Given the description of an element on the screen output the (x, y) to click on. 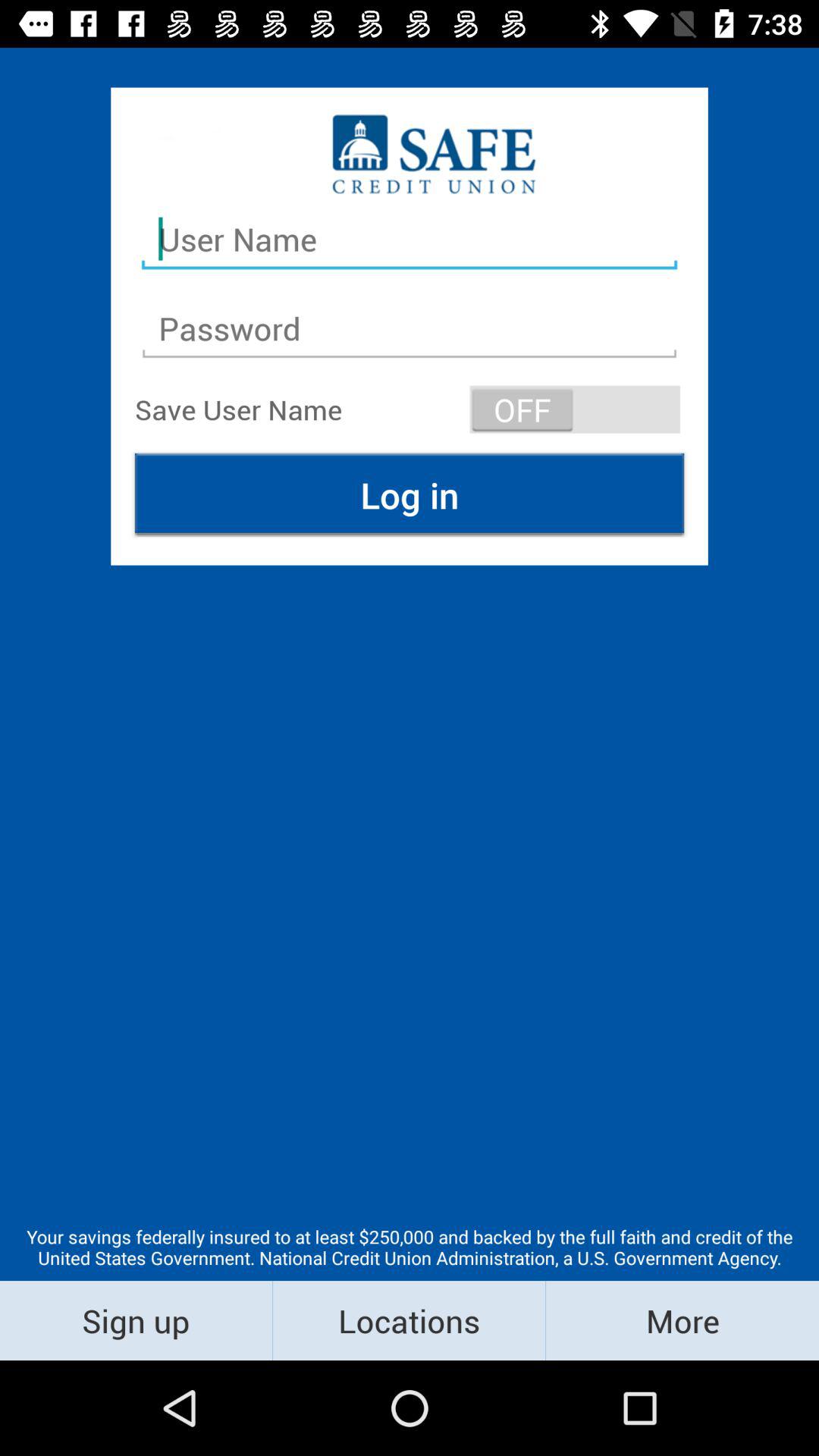
scroll until the log in item (409, 494)
